Given the description of an element on the screen output the (x, y) to click on. 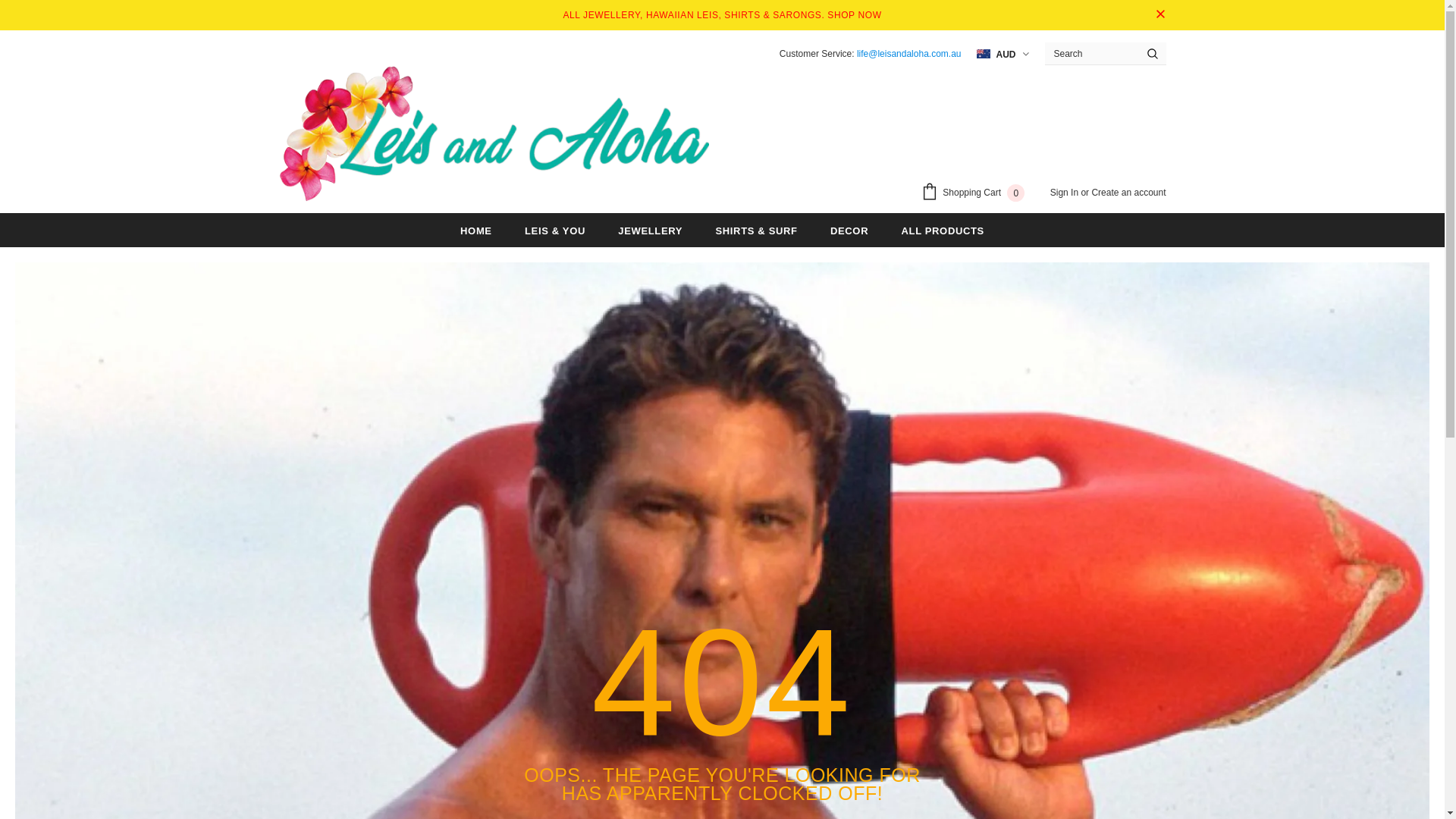
close Element type: hover (1159, 14)
DECOR Element type: text (849, 230)
SHOP NOW Element type: text (854, 15)
Logo Element type: hover (494, 133)
Create an account Element type: text (1128, 192)
LEIS & YOU Element type: text (554, 230)
ALL PRODUCTS Element type: text (942, 230)
Shopping Cart 0 Element type: text (976, 193)
JEWELLERY Element type: text (650, 230)
Sign In Element type: text (1065, 192)
life@leisandaloha.com.au Element type: text (908, 53)
SHIRTS & SURF Element type: text (756, 230)
HOME Element type: text (476, 230)
